Given the description of an element on the screen output the (x, y) to click on. 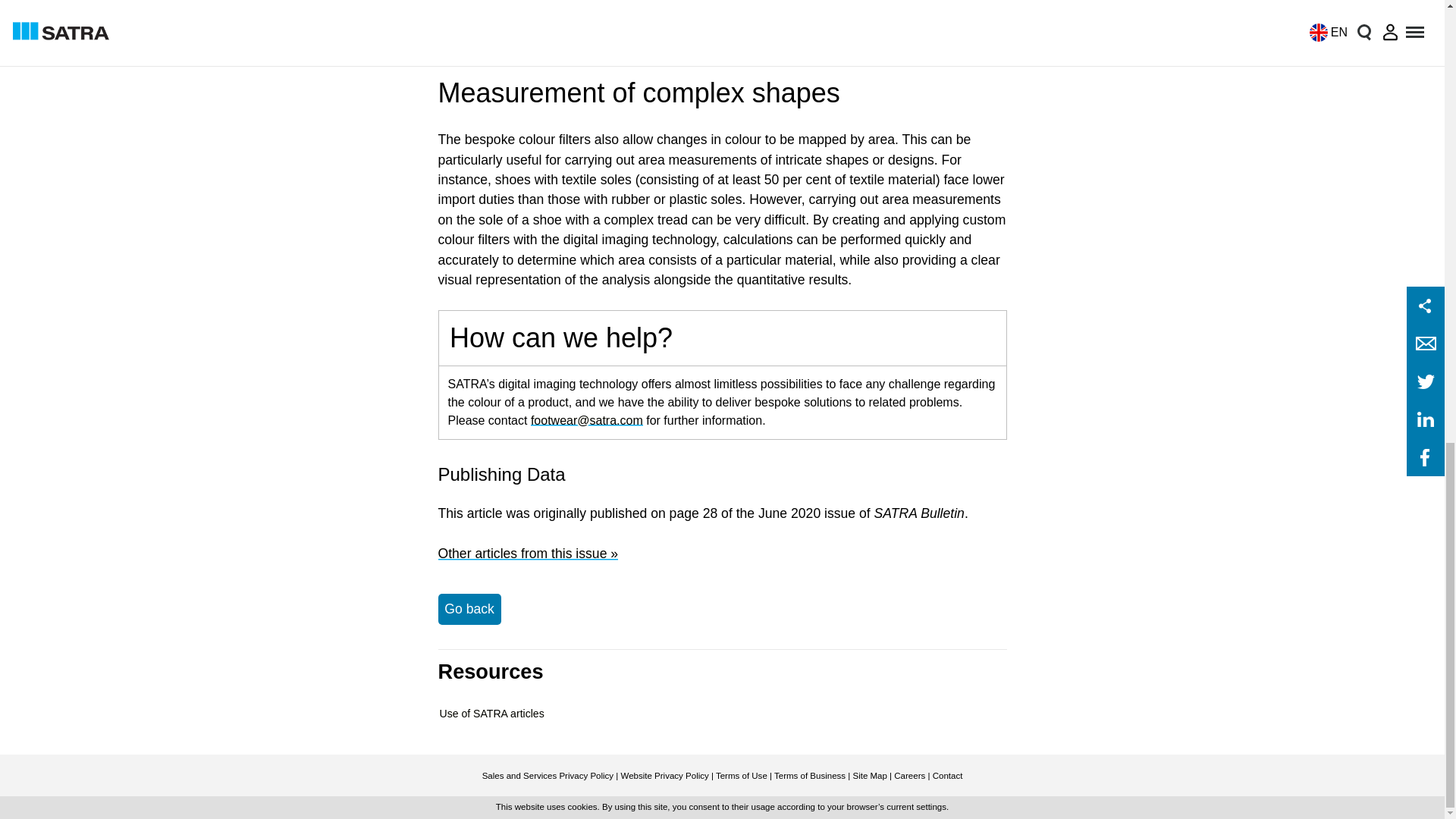
Use of SATRA articles (491, 713)
Go back (469, 608)
